Given the description of an element on the screen output the (x, y) to click on. 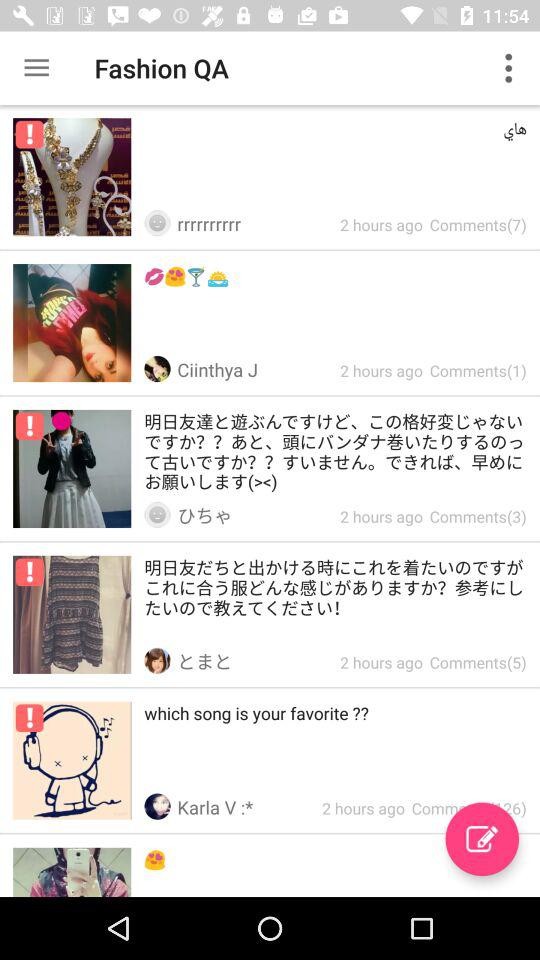
launch the icon next to 2 hours ago (482, 839)
